Given the description of an element on the screen output the (x, y) to click on. 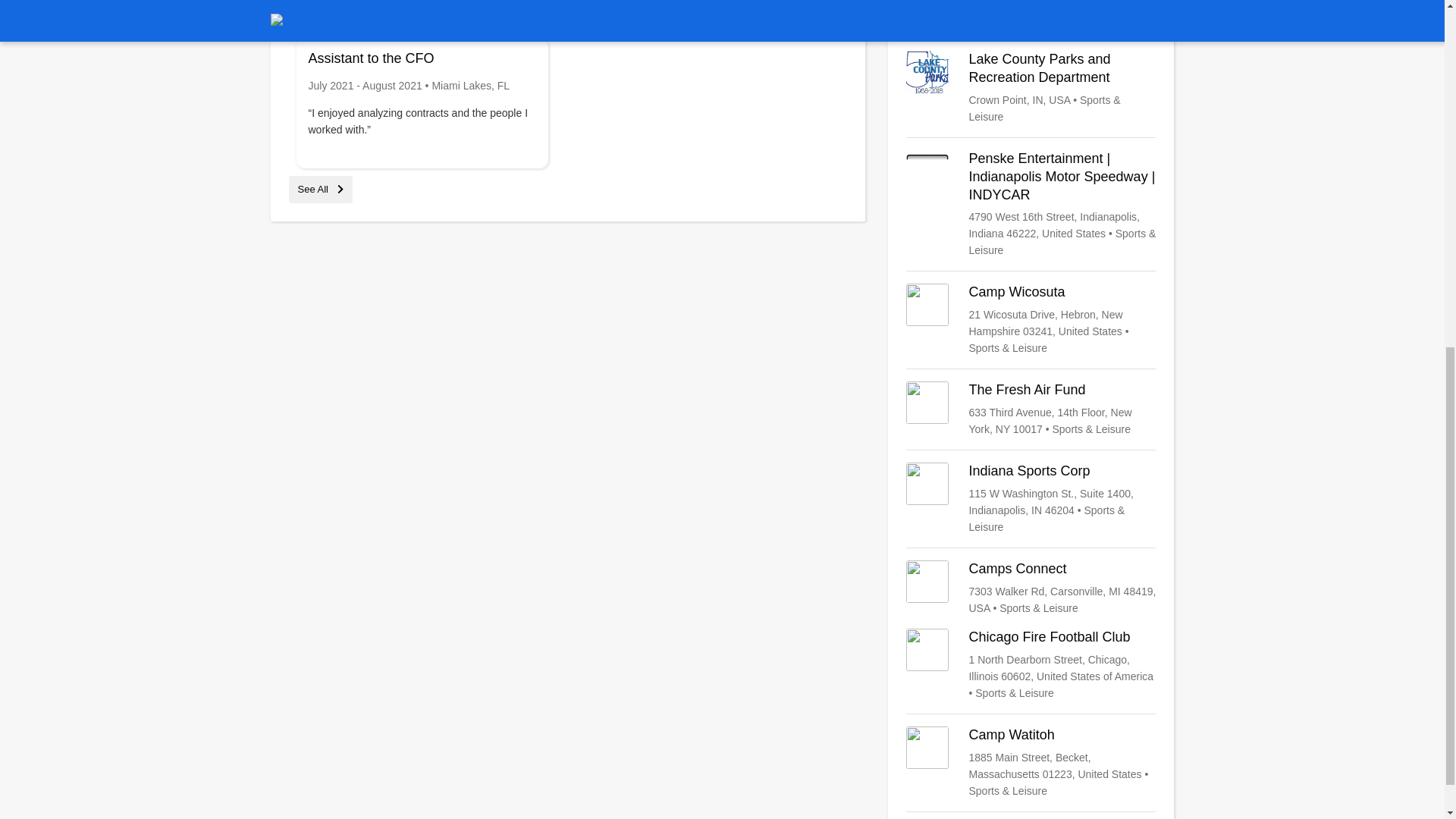
See All (320, 188)
Indiana Sports Corp (1030, 498)
Lake County Parks and Recreation Department (1030, 87)
The Fresh Air Fund (1030, 409)
Camp Wicosuta (1030, 319)
Camps Connect (1030, 588)
Barwis Methods (1030, 12)
Chicago Fire Football Club (1030, 664)
Camp Watitoh (1030, 762)
